Given the description of an element on the screen output the (x, y) to click on. 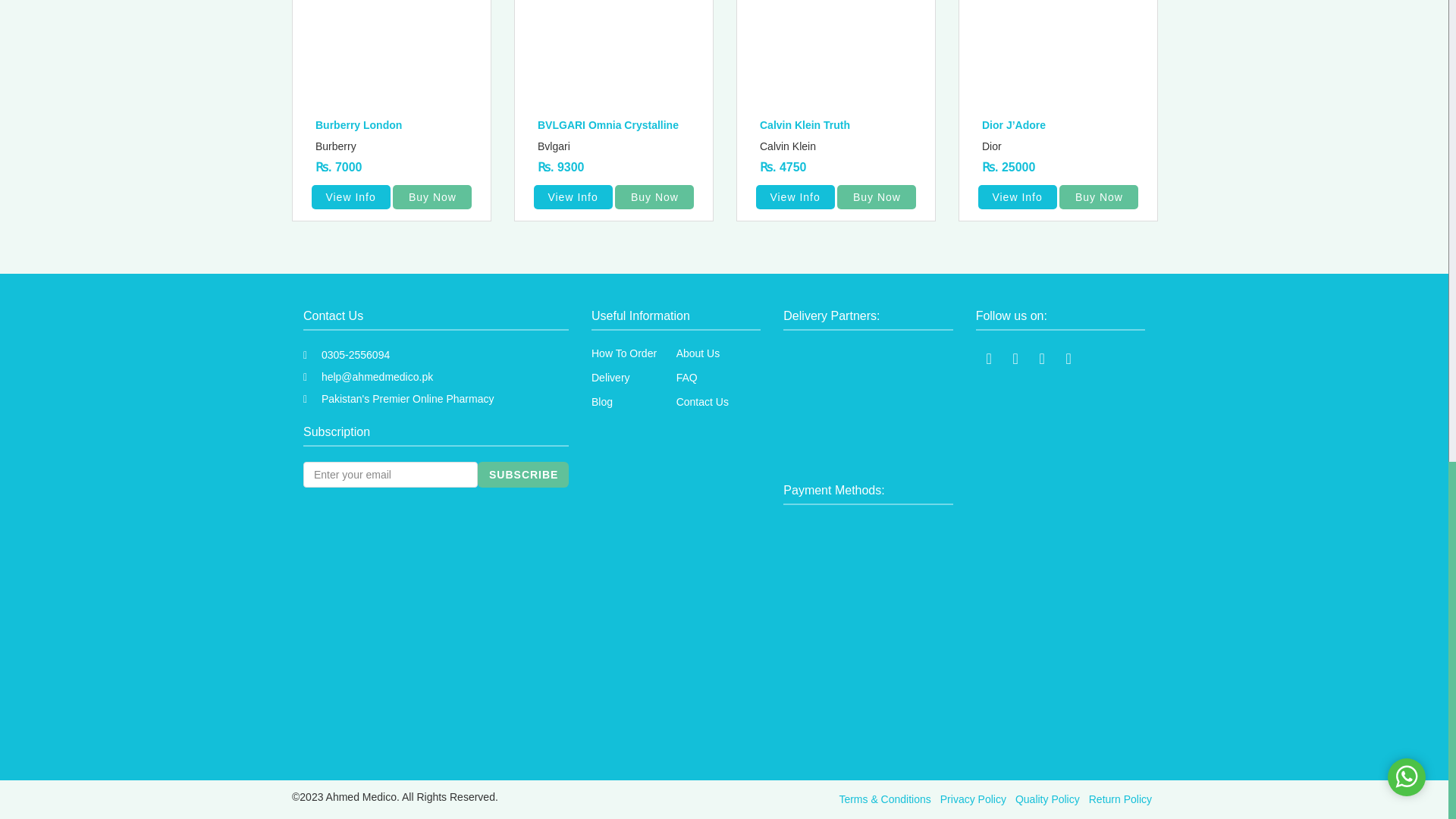
Calvin Klein Truth (841, 125)
Dior (1063, 146)
Add to Cart (654, 197)
Calvin Klein (841, 146)
Subscribe (523, 474)
Burberry (397, 146)
Bvlgari (619, 146)
Add to Cart (876, 197)
Burberry London (397, 125)
Add to Cart (432, 197)
